Given the description of an element on the screen output the (x, y) to click on. 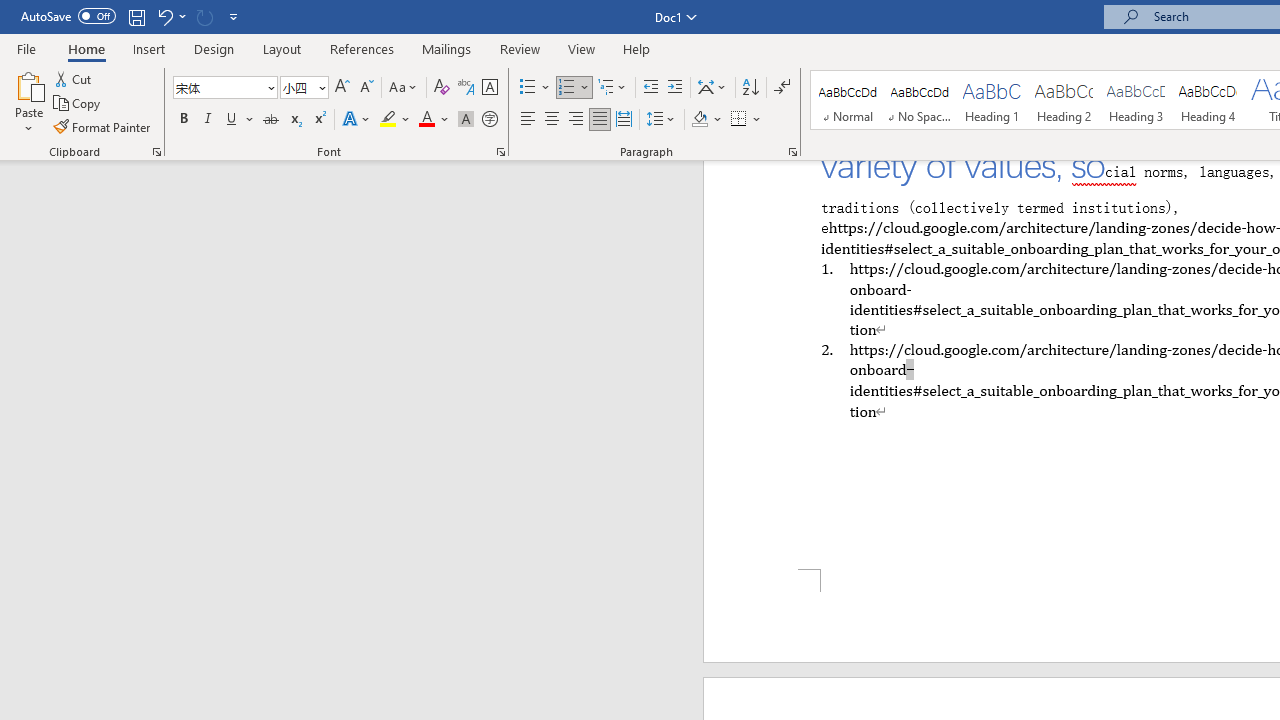
Undo Apply Quick Style (170, 15)
Heading 3 (1135, 100)
Text Highlight Color Yellow (388, 119)
Heading 2 (1063, 100)
Subscript (294, 119)
Character Shading (465, 119)
Asian Layout (712, 87)
Character Border (489, 87)
